Given the description of an element on the screen output the (x, y) to click on. 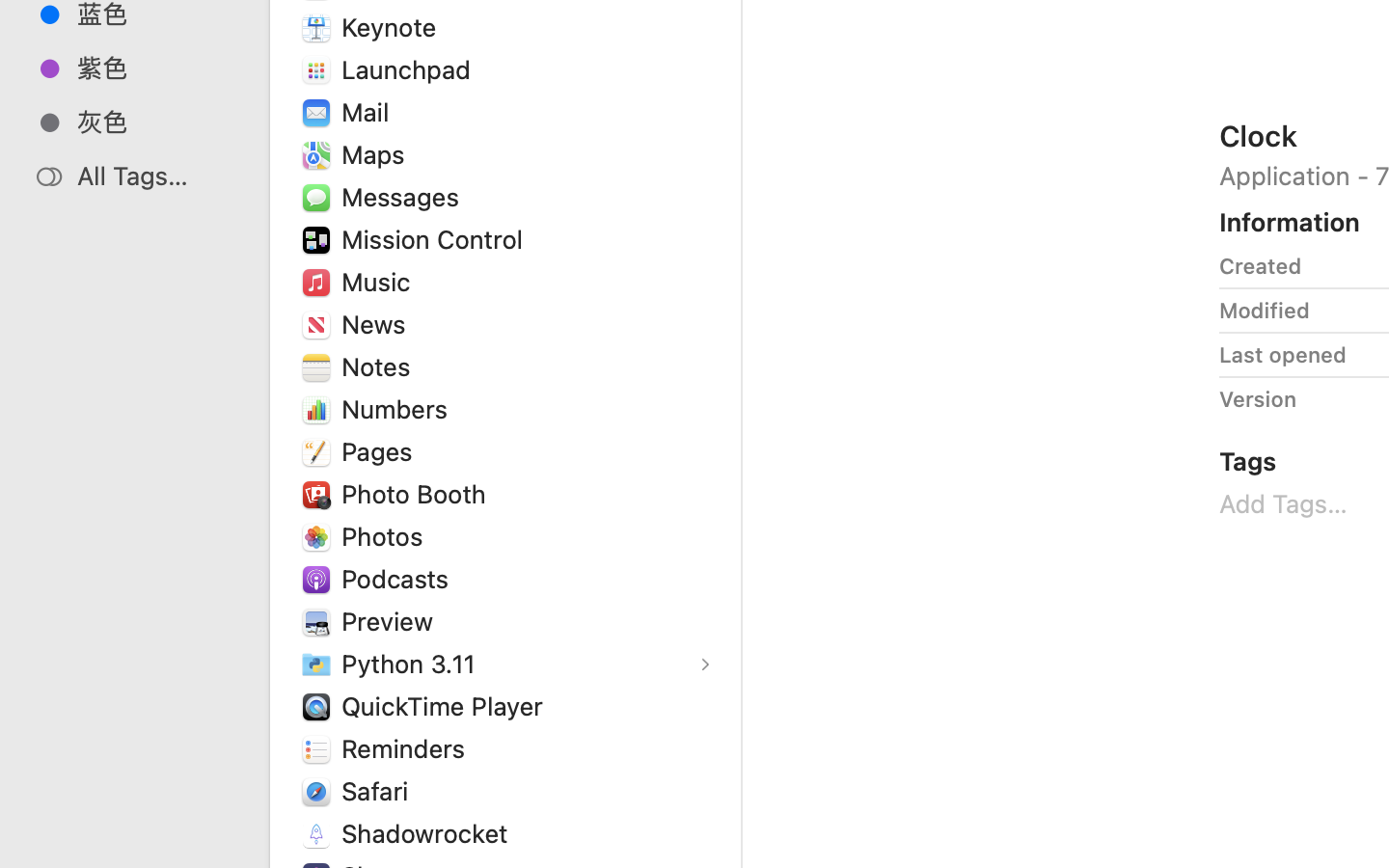
Last opened Element type: AXStaticText (1282, 354)
Messages Element type: AXTextField (403, 196)
Information Element type: AXStaticText (1289, 221)
Keynote Element type: AXTextField (393, 26)
Shadowrocket Element type: AXTextField (428, 832)
